Given the description of an element on the screen output the (x, y) to click on. 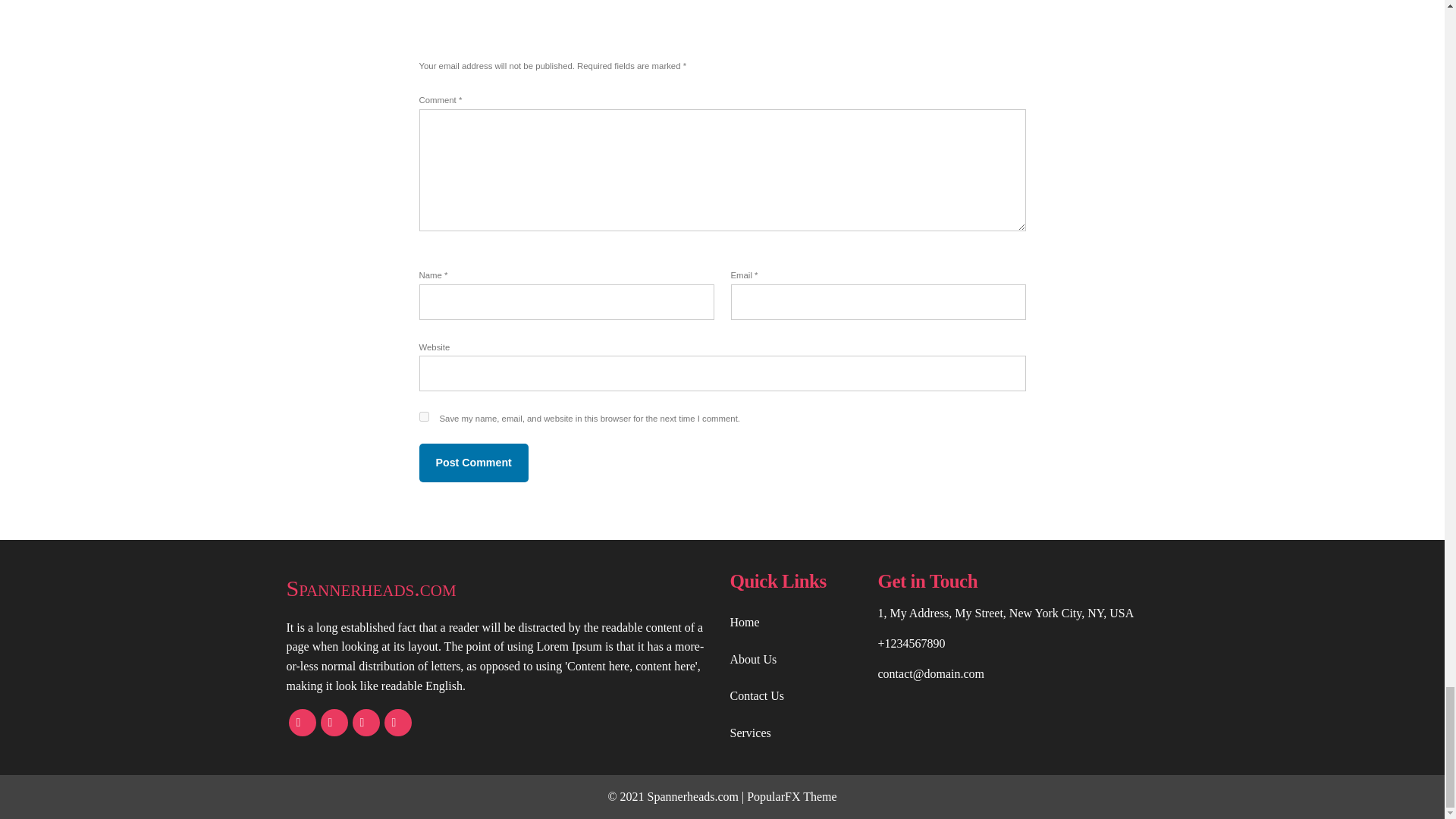
PopularFX Theme (790, 796)
Spannerheads.com (500, 588)
yes (423, 416)
Post Comment (473, 462)
Post Comment (473, 462)
